Given the description of an element on the screen output the (x, y) to click on. 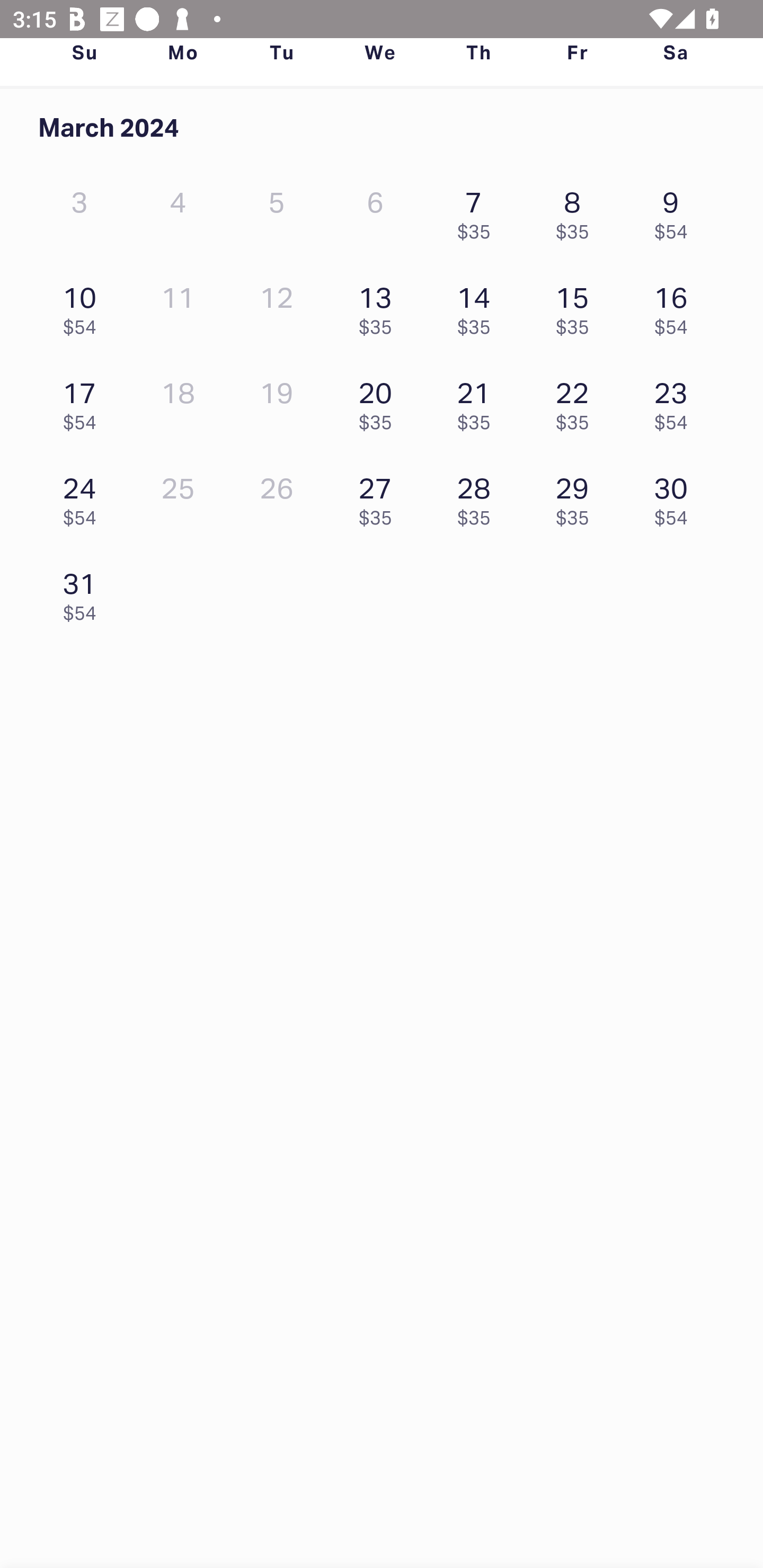
7 $35 (478, 210)
8 $35 (577, 210)
9 $54 (675, 210)
10 $54 (84, 306)
13 $35 (379, 306)
14 $35 (478, 306)
15 $35 (577, 306)
16 $54 (675, 306)
17 $54 (84, 401)
20 $35 (379, 401)
21 $35 (478, 401)
22 $35 (577, 401)
23 $54 (675, 401)
24 $54 (84, 496)
27 $35 (379, 496)
28 $35 (478, 496)
29 $35 (577, 496)
30 $54 (675, 496)
31 $54 (84, 591)
